Given the description of an element on the screen output the (x, y) to click on. 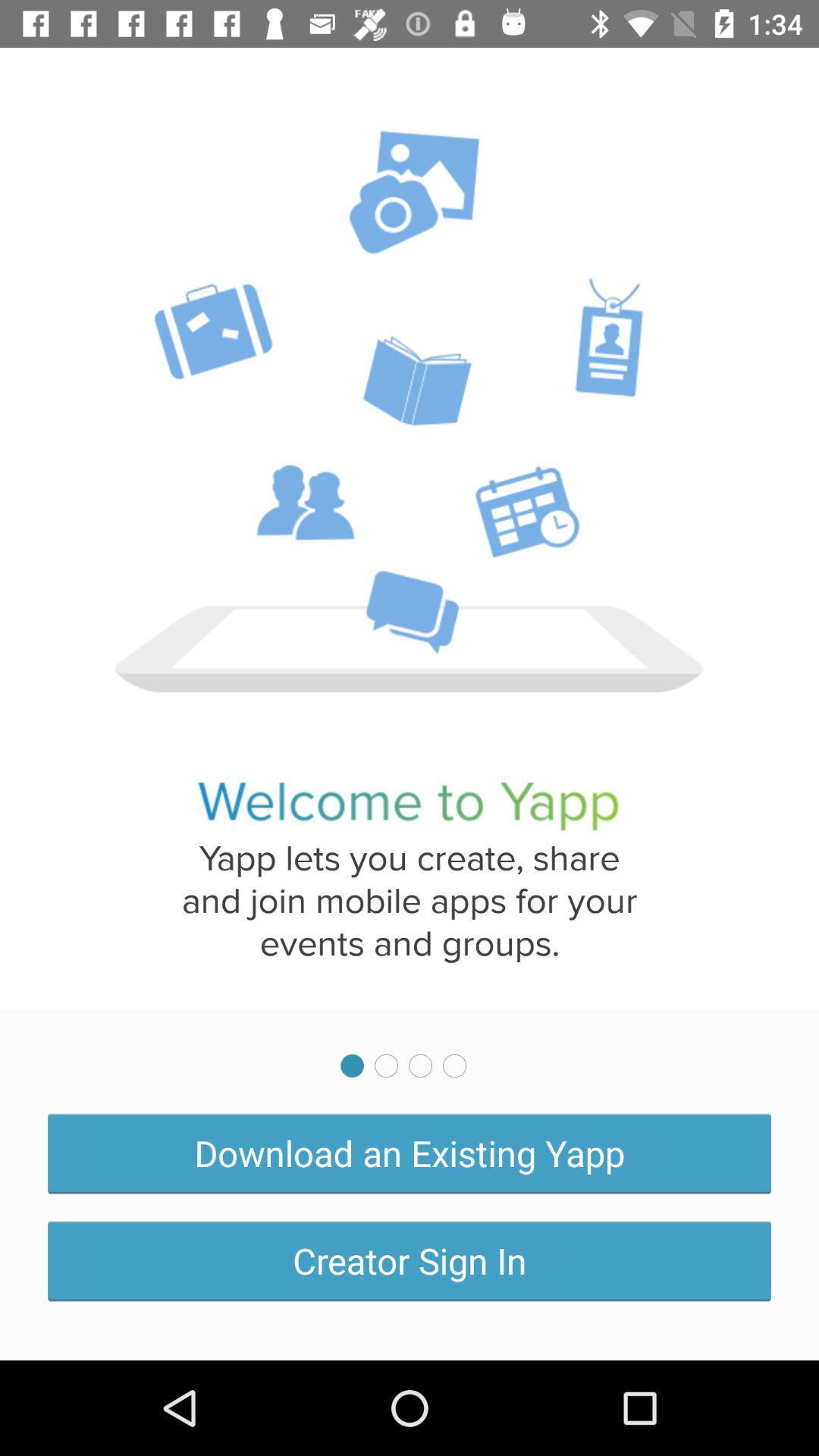
turn on download an existing item (409, 1153)
